Given the description of an element on the screen output the (x, y) to click on. 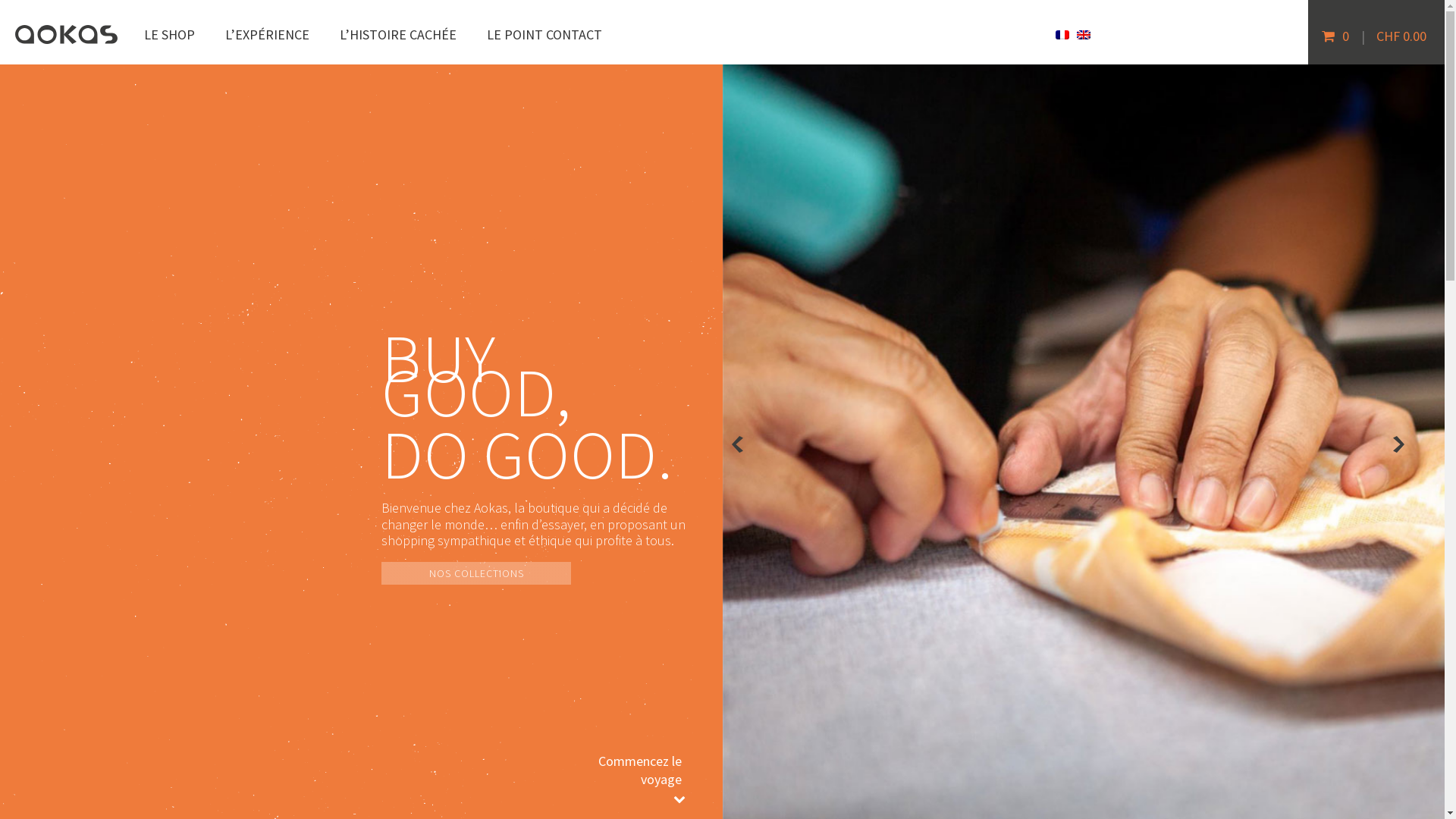
Commencez le voyage Element type: text (656, 769)
Aller au contenu Element type: text (45, 12)
LE POINT CONTACT Element type: text (544, 34)
LE SHOP Element type: text (169, 34)
0
CHF 0.00 Element type: text (1376, 20)
English Element type: hover (1083, 34)
NOS COLLECTIONS Element type: text (476, 572)
